Given the description of an element on the screen output the (x, y) to click on. 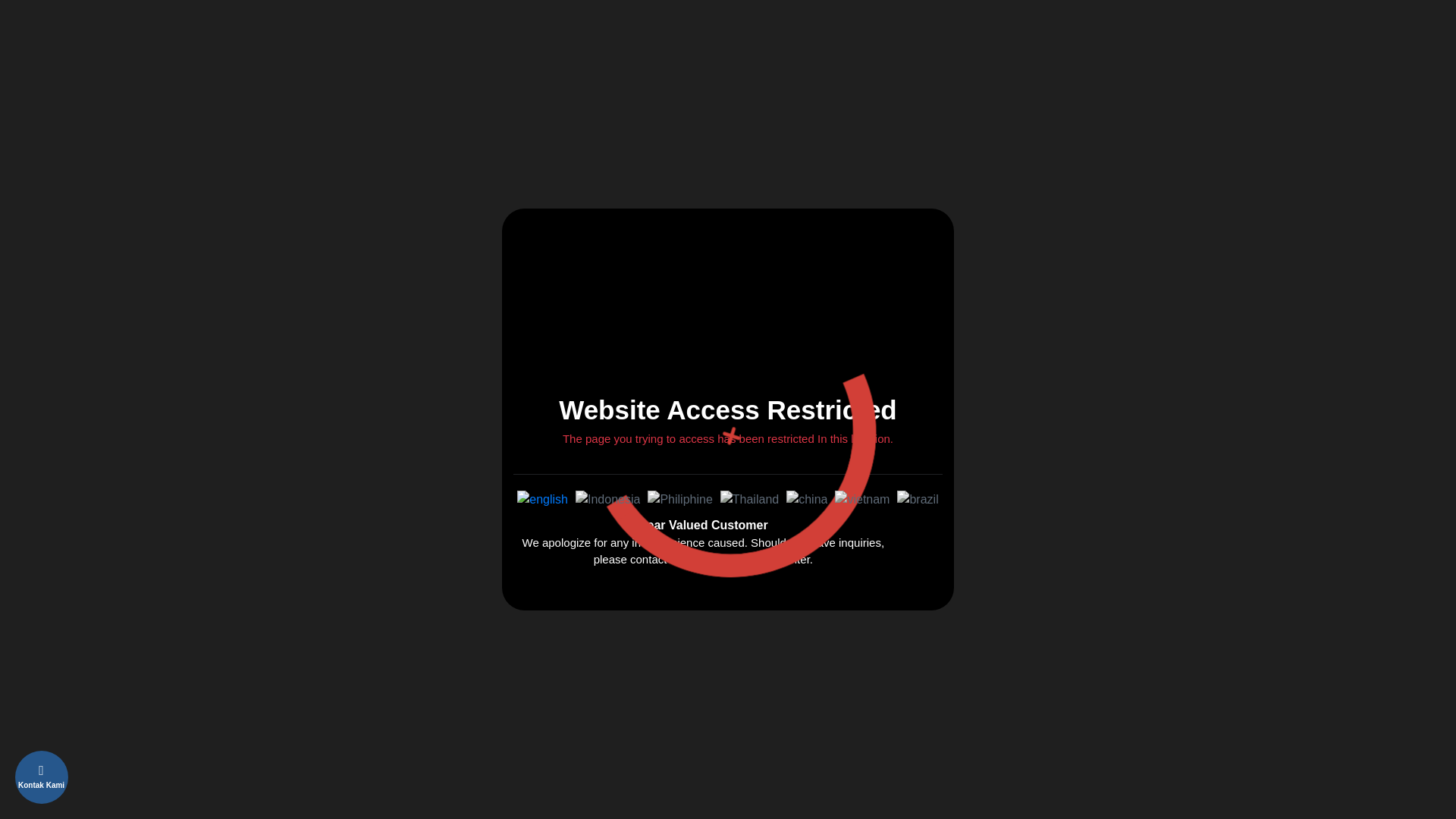
WhatsApp (122, 773)
